Given the description of an element on the screen output the (x, y) to click on. 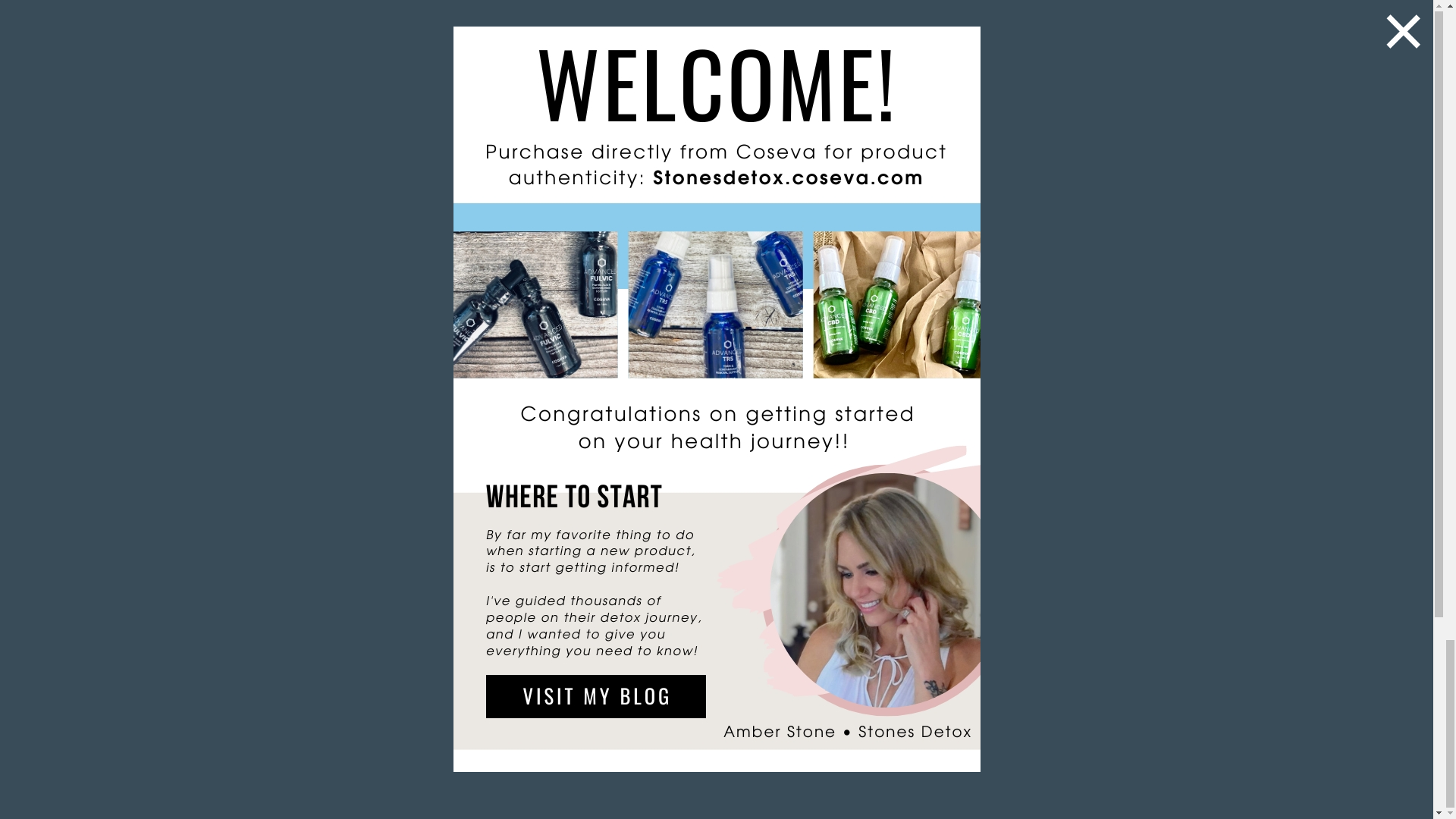
Follow on Pinterest (263, 662)
START NOW (585, 291)
Follow on Facebook (202, 662)
Follow on Instagram (233, 662)
